Given the description of an element on the screen output the (x, y) to click on. 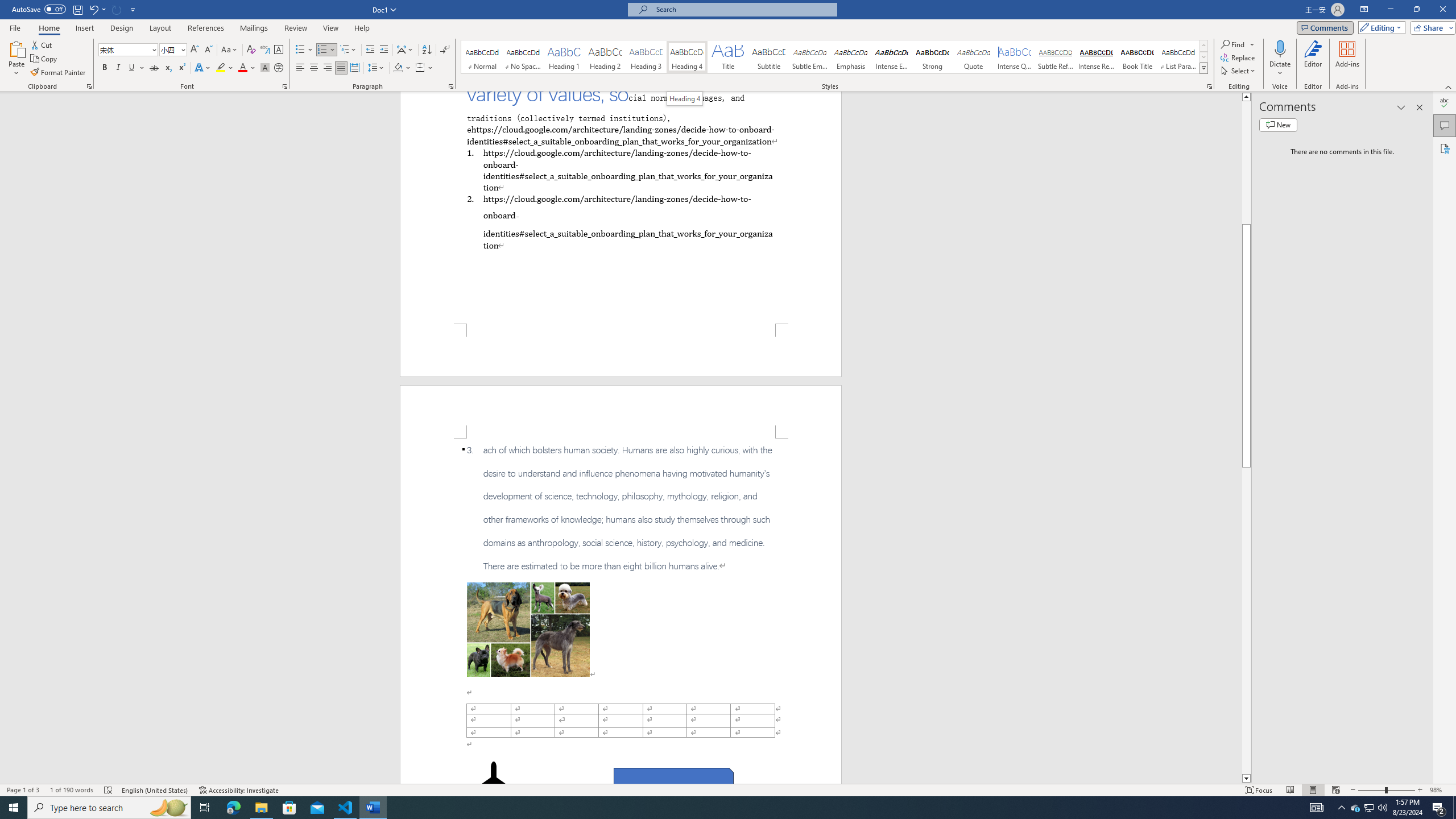
Numbering (322, 49)
Editing (1379, 27)
3. (620, 507)
Align Left (300, 67)
Heading 4 (686, 56)
Page Number Page 1 of 3 (22, 790)
Review (295, 28)
Font... (285, 85)
Text Highlight Color Yellow (220, 67)
Bullets (304, 49)
Airplane with solid fill (493, 783)
Find (1232, 44)
Layout (160, 28)
Mailings (253, 28)
